Given the description of an element on the screen output the (x, y) to click on. 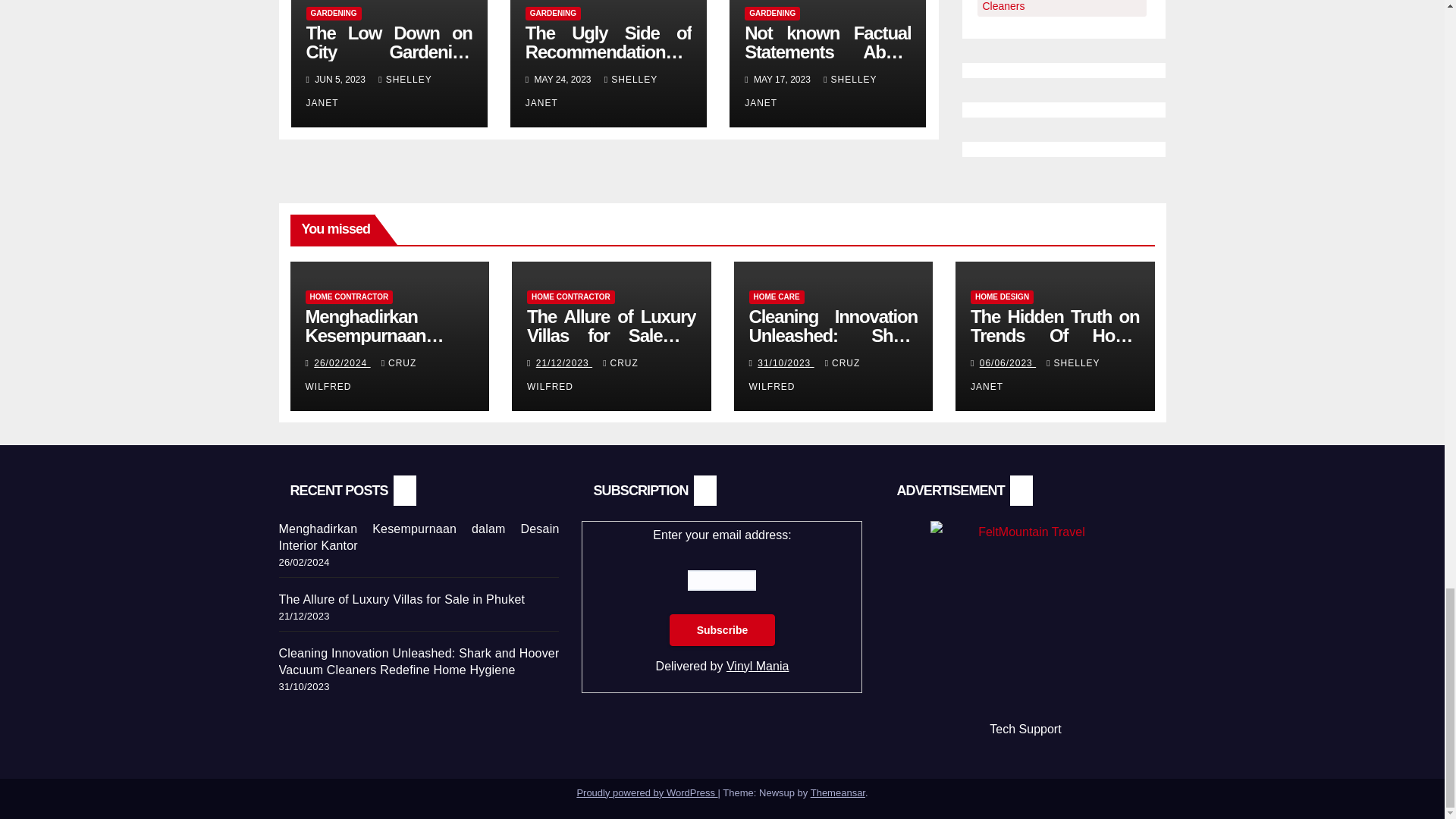
Subscribe (722, 630)
Permalink to: The Allure of Luxury Villas for Sale in Phuket (611, 335)
The Low Down on City Gardening Volunteer Revealed (388, 51)
SHELLEY JANET (368, 91)
GARDENING (333, 13)
GARDENING (552, 13)
Permalink to: The Ugly Side of Recommendation Garden In Home (608, 51)
The Ugly Side of Recommendation Garden In Home (608, 51)
